Given the description of an element on the screen output the (x, y) to click on. 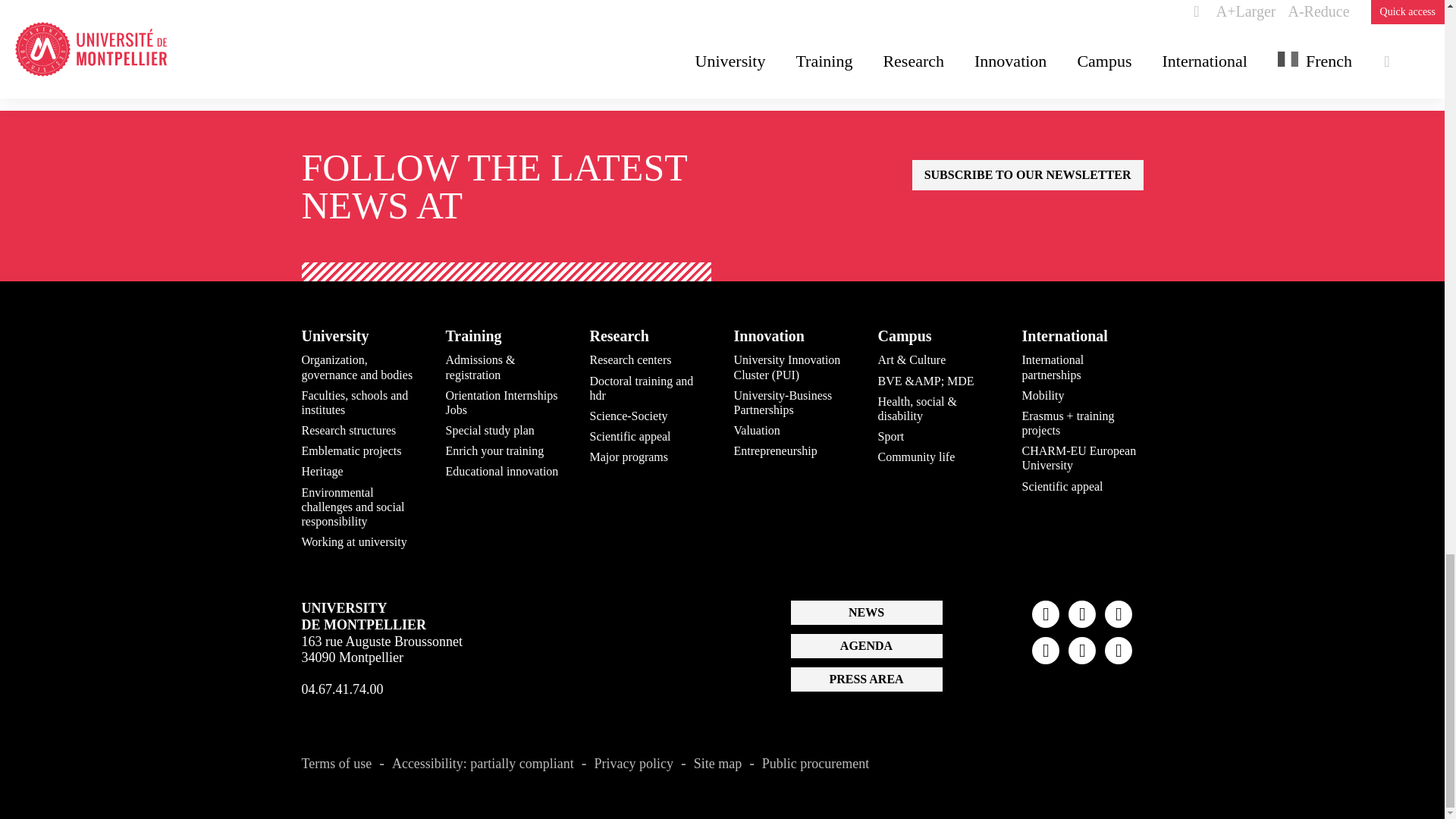
Innovation (418, 50)
Technology (604, 50)
Portrait (481, 50)
Research (539, 50)
